Given the description of an element on the screen output the (x, y) to click on. 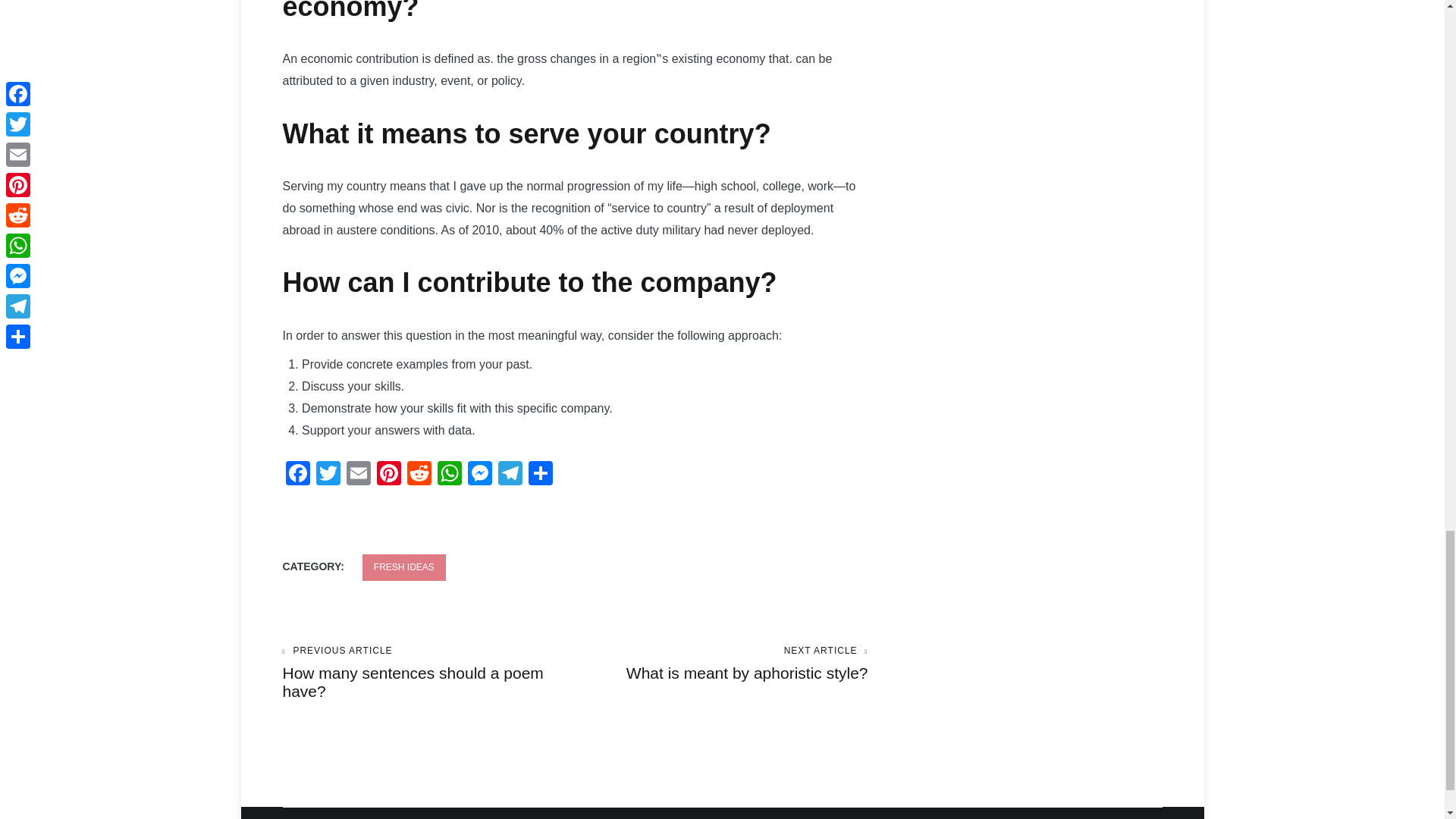
Messenger (479, 474)
Facebook (297, 474)
Share (539, 474)
Telegram (509, 474)
Reddit (418, 474)
Reddit (418, 474)
Facebook (297, 474)
Pinterest (387, 474)
Twitter (327, 474)
Twitter (327, 474)
Telegram (509, 474)
FRESH IDEAS (403, 567)
WhatsApp (721, 663)
Email (448, 474)
